Given the description of an element on the screen output the (x, y) to click on. 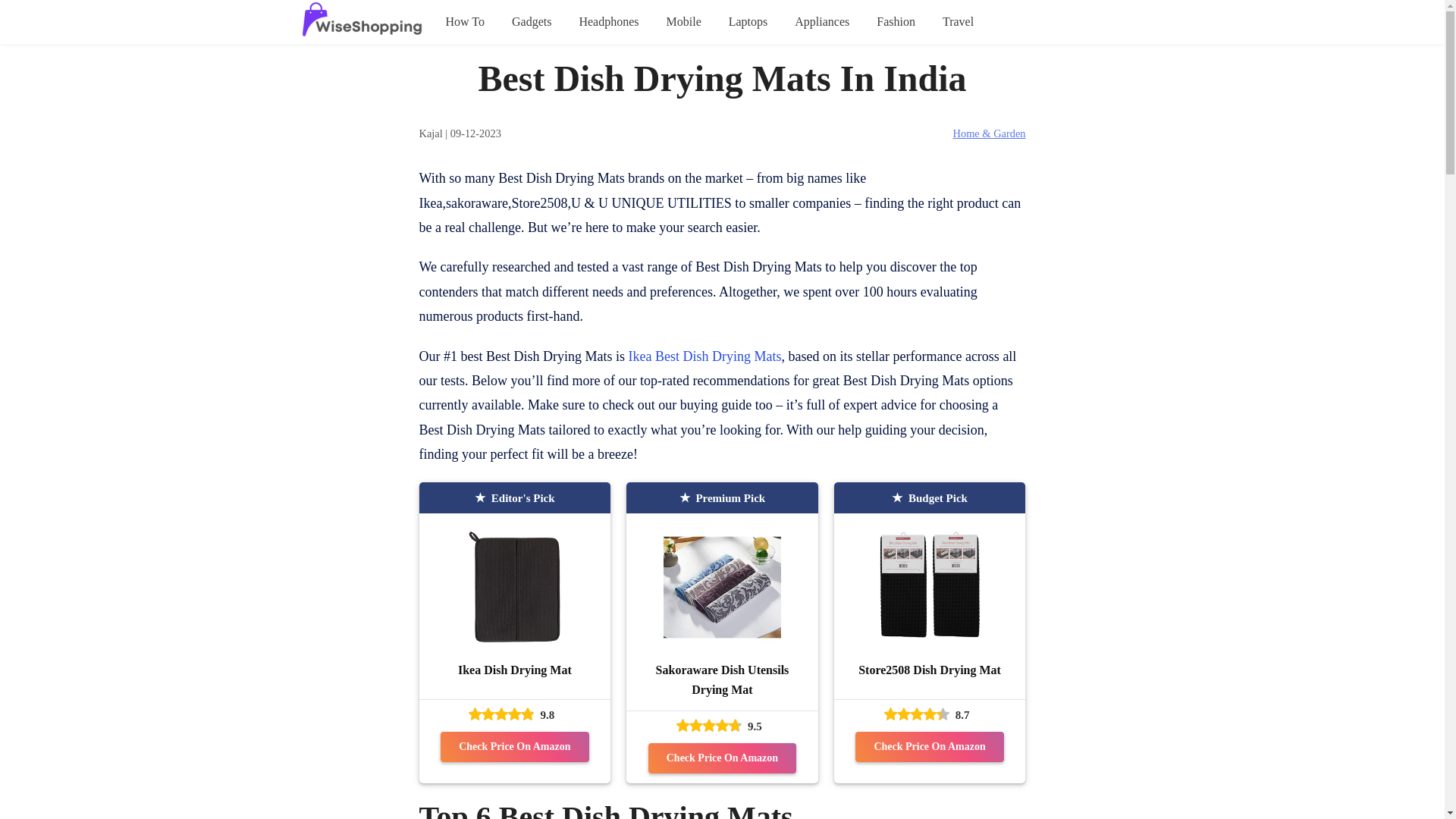
Headphones (608, 21)
Fashion (895, 21)
Check Price On Amazon (514, 747)
Ikea Best Dish Drying Mats (703, 355)
Travel (958, 21)
Gadgets (531, 21)
Laptops (748, 21)
Check Price On Amazon (929, 747)
How To (464, 21)
Mobile (683, 21)
Appliances (821, 21)
Check Price On Amazon (721, 757)
